Given the description of an element on the screen output the (x, y) to click on. 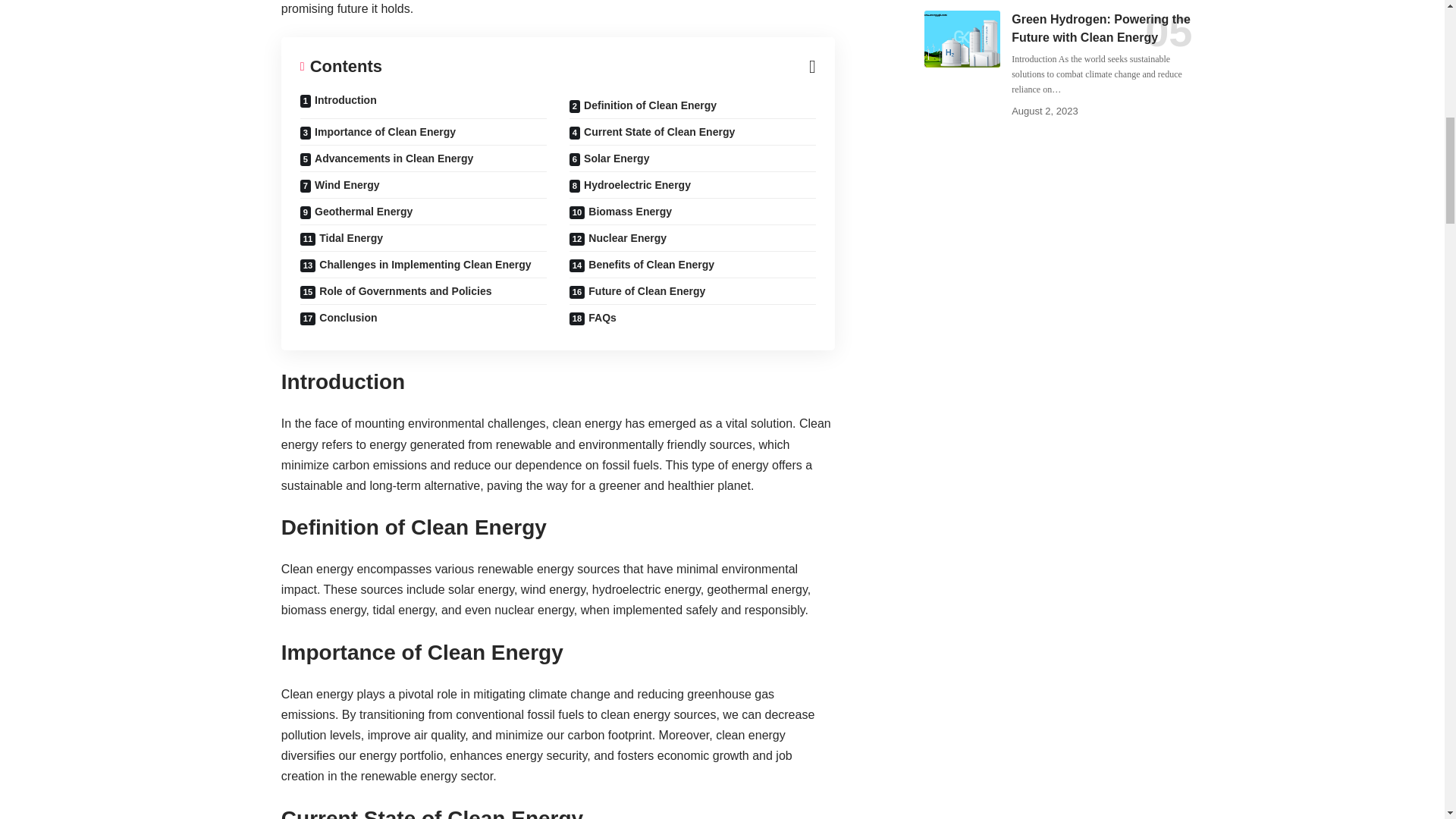
Biomass Energy (692, 212)
Tidal Energy (422, 238)
Introduction (422, 105)
Definition of Clean Energy (692, 105)
Nuclear Energy (692, 238)
Wind Energy (422, 185)
Solar Energy (692, 158)
Current State of Clean Energy (692, 131)
Challenges in Implementing Clean Energy (422, 264)
Geothermal Energy (422, 212)
Importance of Clean Energy (422, 131)
Hydroelectric Energy (692, 185)
Advancements in Clean Energy (422, 158)
Benefits of Clean Energy (692, 264)
Green Hydrogen: Powering the Future with Clean Energy (962, 38)
